Given the description of an element on the screen output the (x, y) to click on. 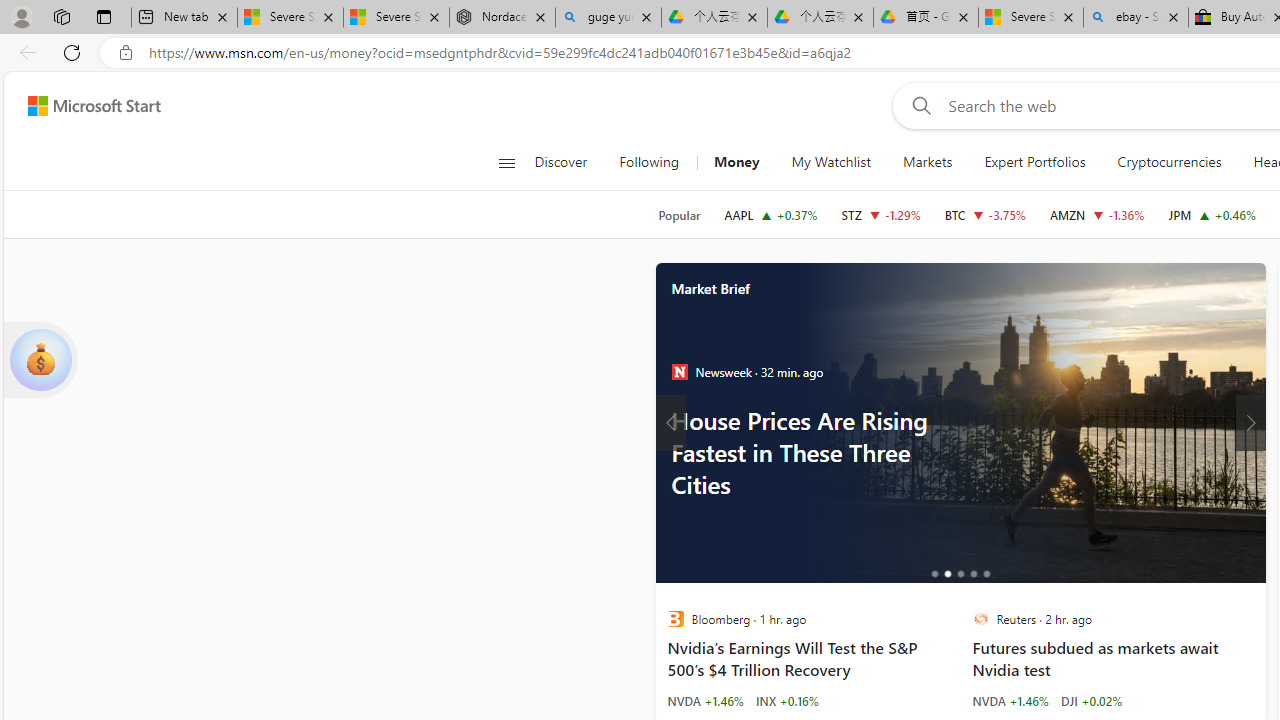
DJI +0.02% (1090, 700)
Cryptocurrencies (1168, 162)
My Watchlist (830, 162)
Popular (679, 215)
BTC Bitcoin decrease 59,981.91 -2,246.92 -3.75% (984, 214)
Class: button-glyph (505, 162)
